Given the description of an element on the screen output the (x, y) to click on. 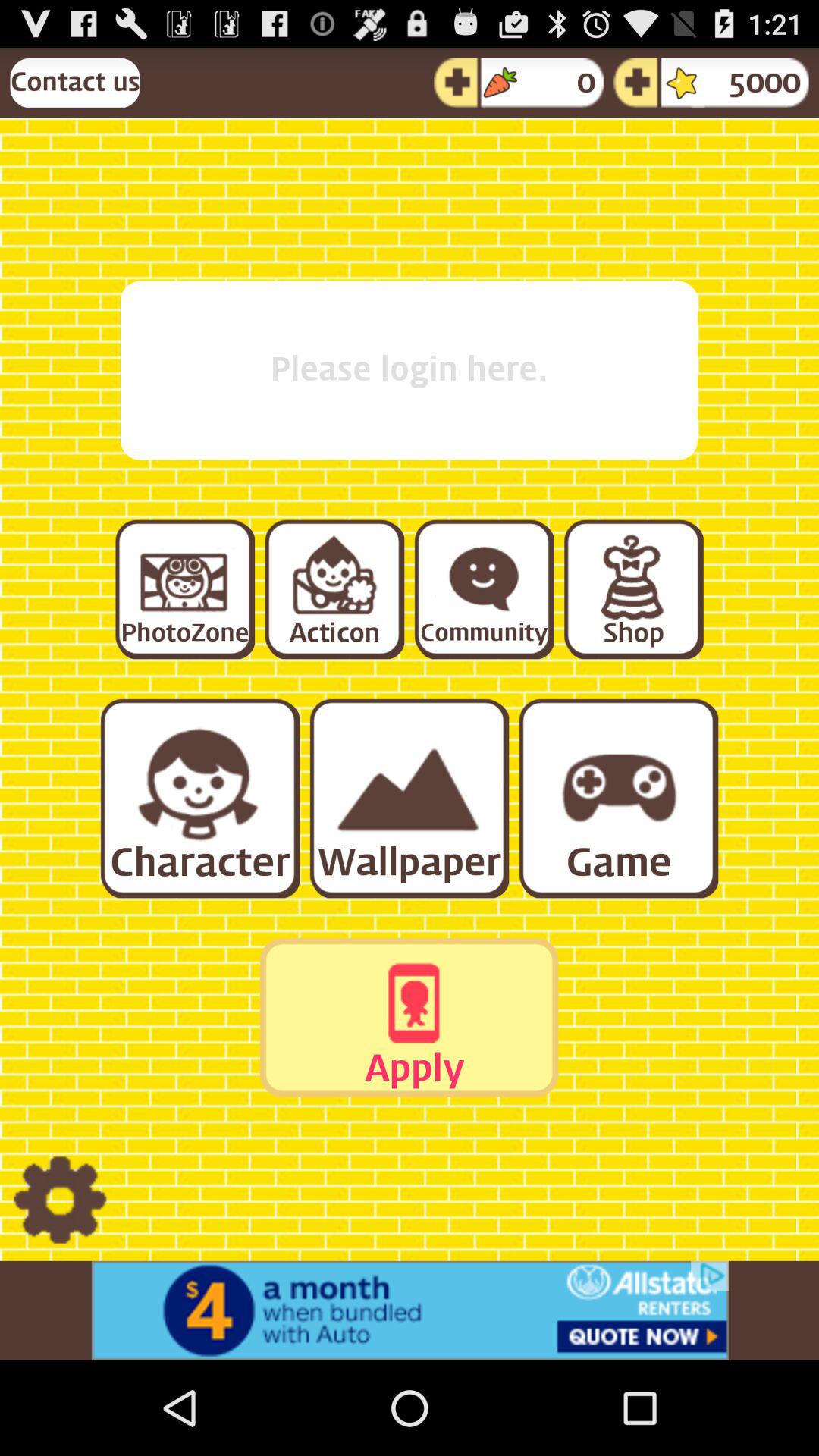
wallpaper (408, 797)
